Given the description of an element on the screen output the (x, y) to click on. 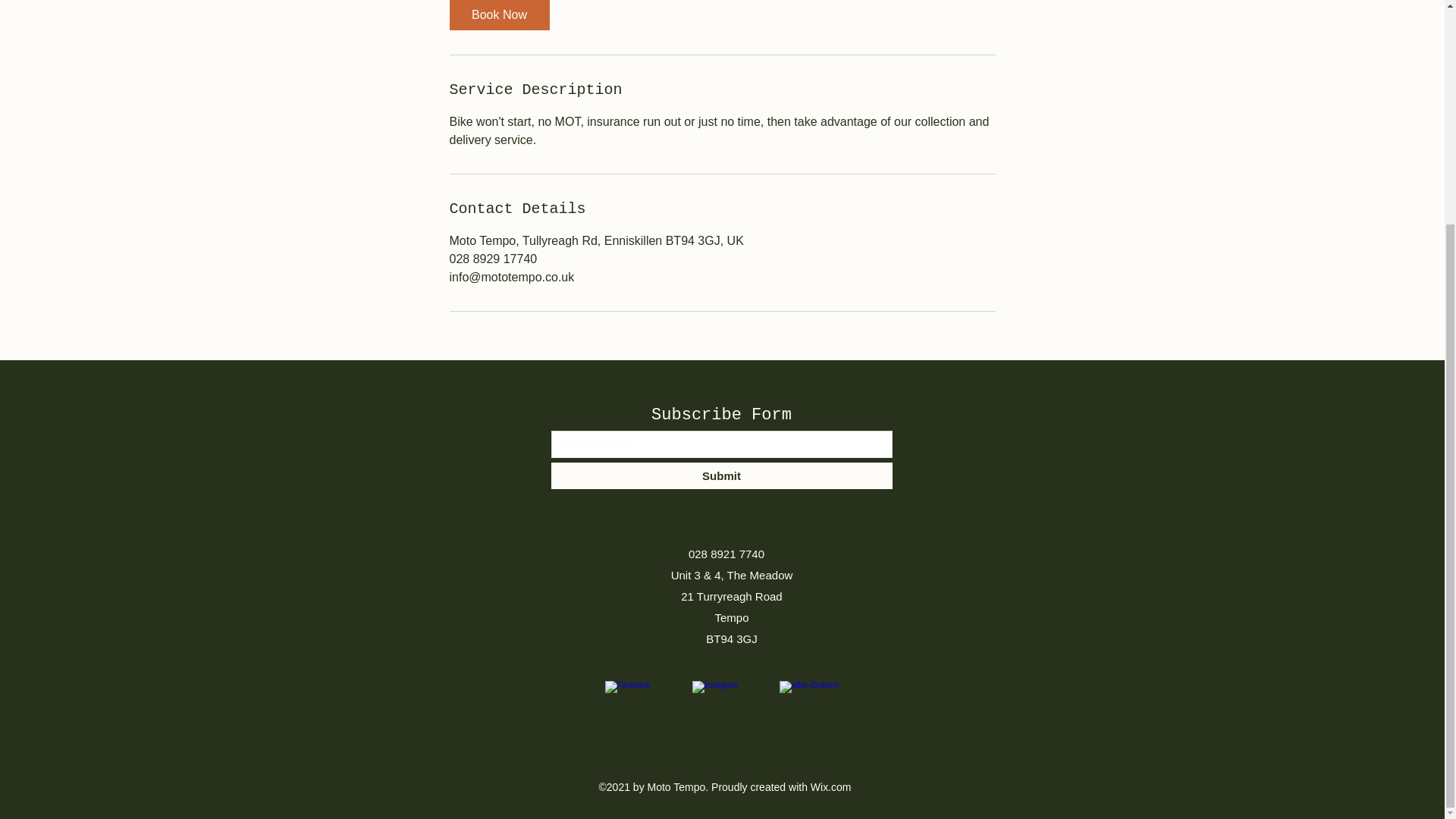
Submit (720, 475)
Book Now (498, 15)
